Given the description of an element on the screen output the (x, y) to click on. 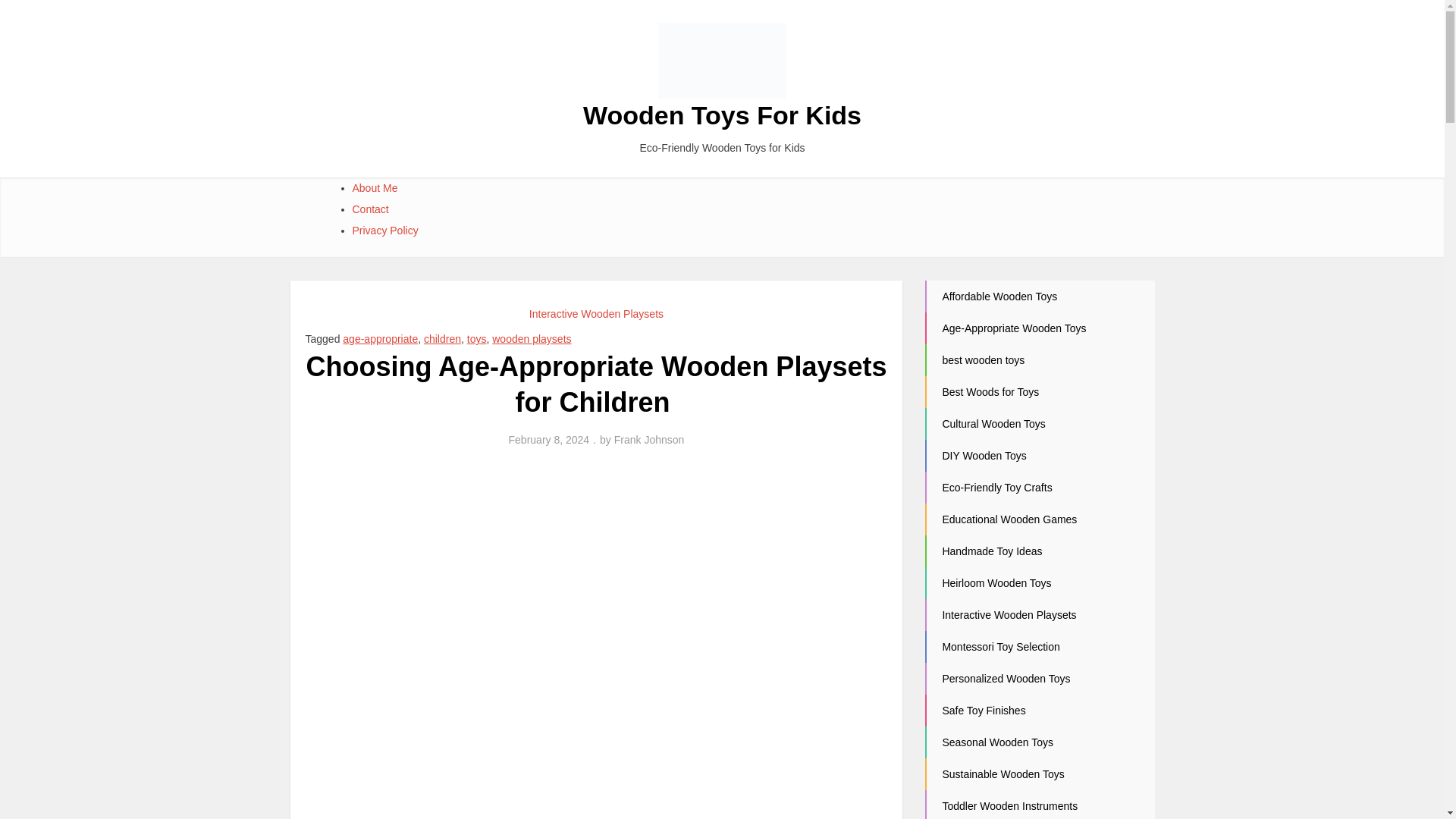
children (442, 338)
About Me (374, 187)
February 8, 2024 (548, 439)
age-appropriate (379, 338)
Frank Johnson (649, 439)
Wooden Toys For Kids (722, 114)
Interactive Wooden Playsets (596, 313)
Contact (370, 209)
Privacy Policy (384, 230)
toys (476, 338)
